Given the description of an element on the screen output the (x, y) to click on. 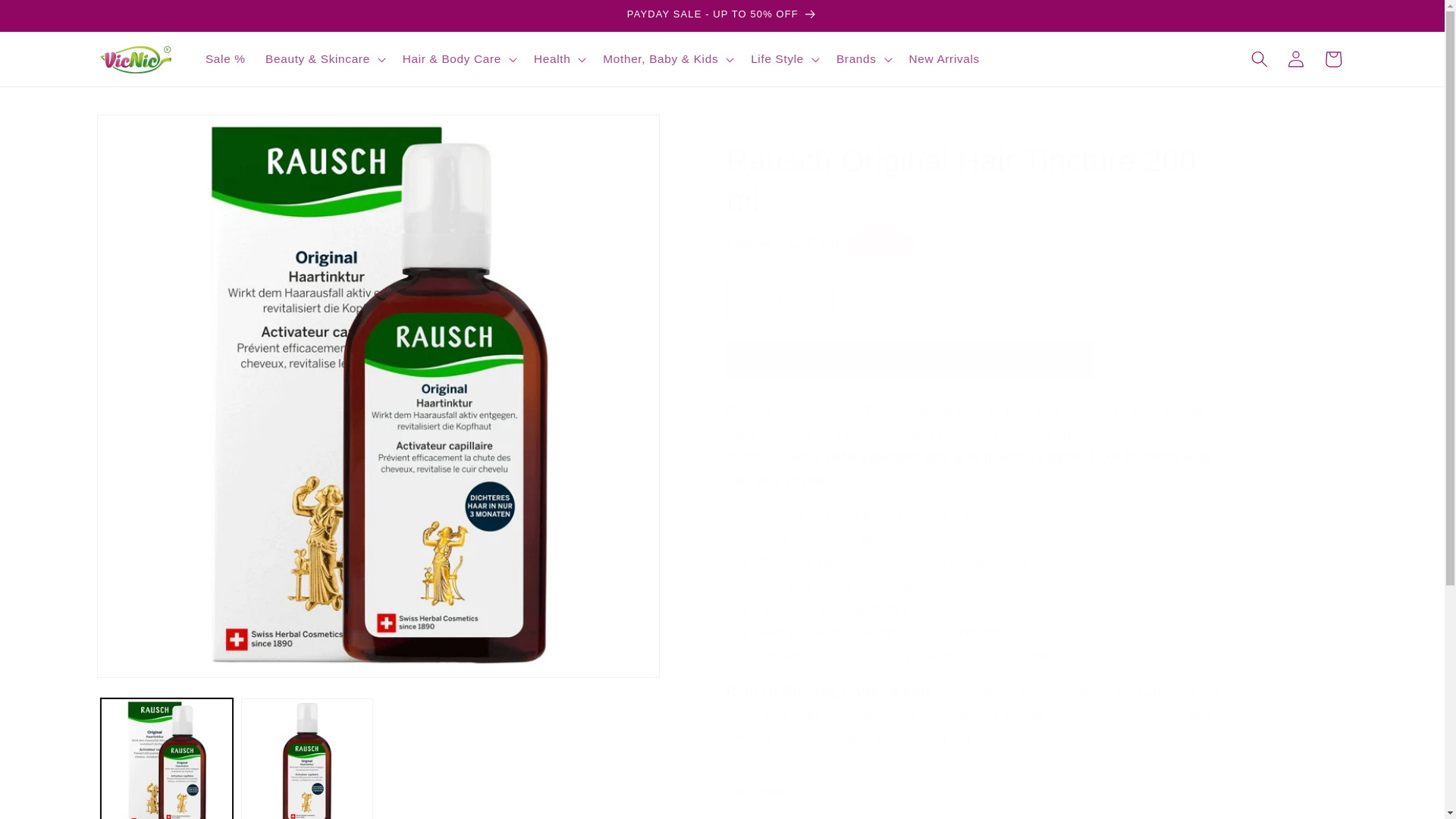
Rausch the power of Swiss herbs (751, 691)
Skip to content (50, 19)
1 (780, 300)
